Given the description of an element on the screen output the (x, y) to click on. 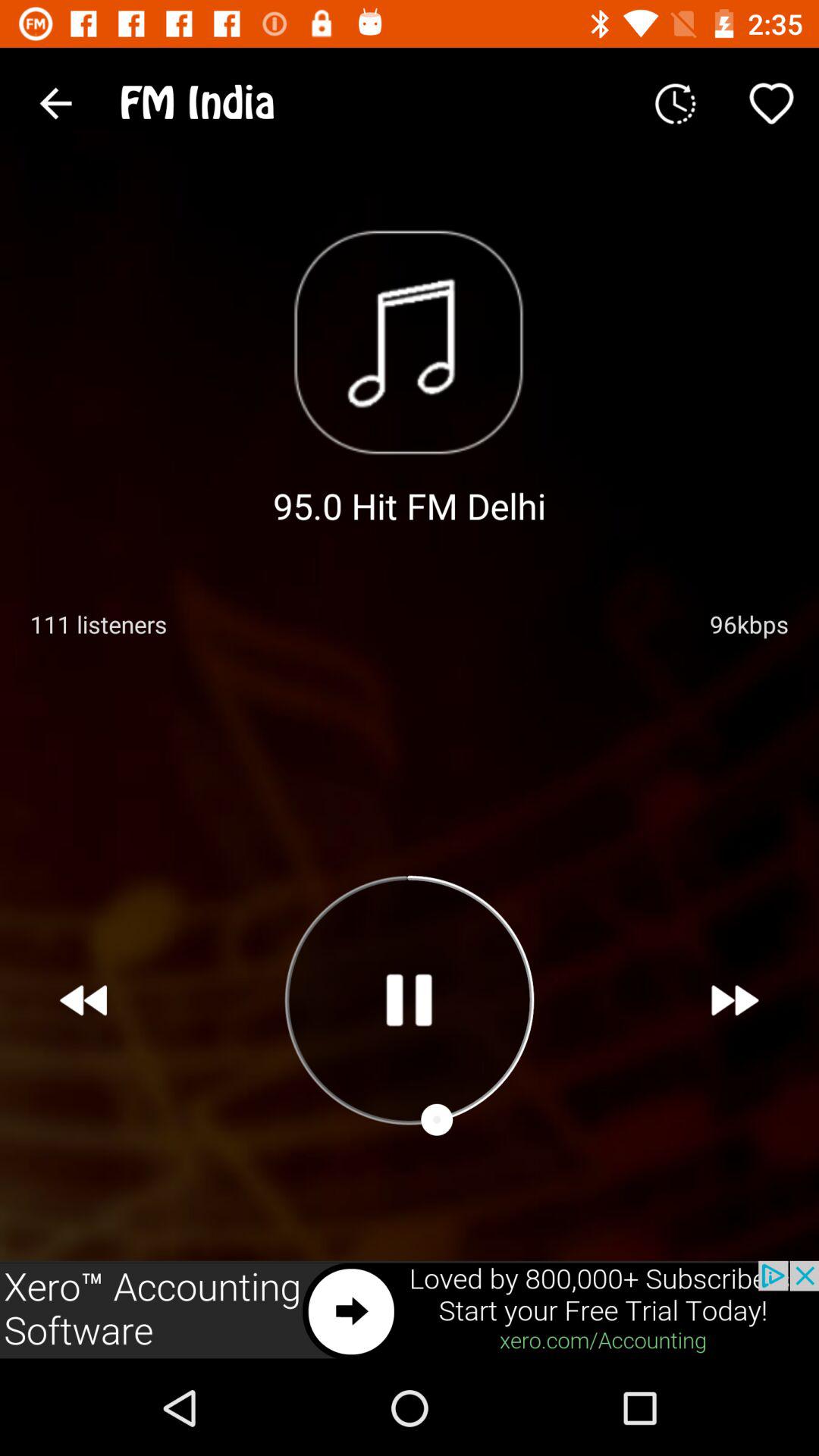
next (735, 1000)
